Given the description of an element on the screen output the (x, y) to click on. 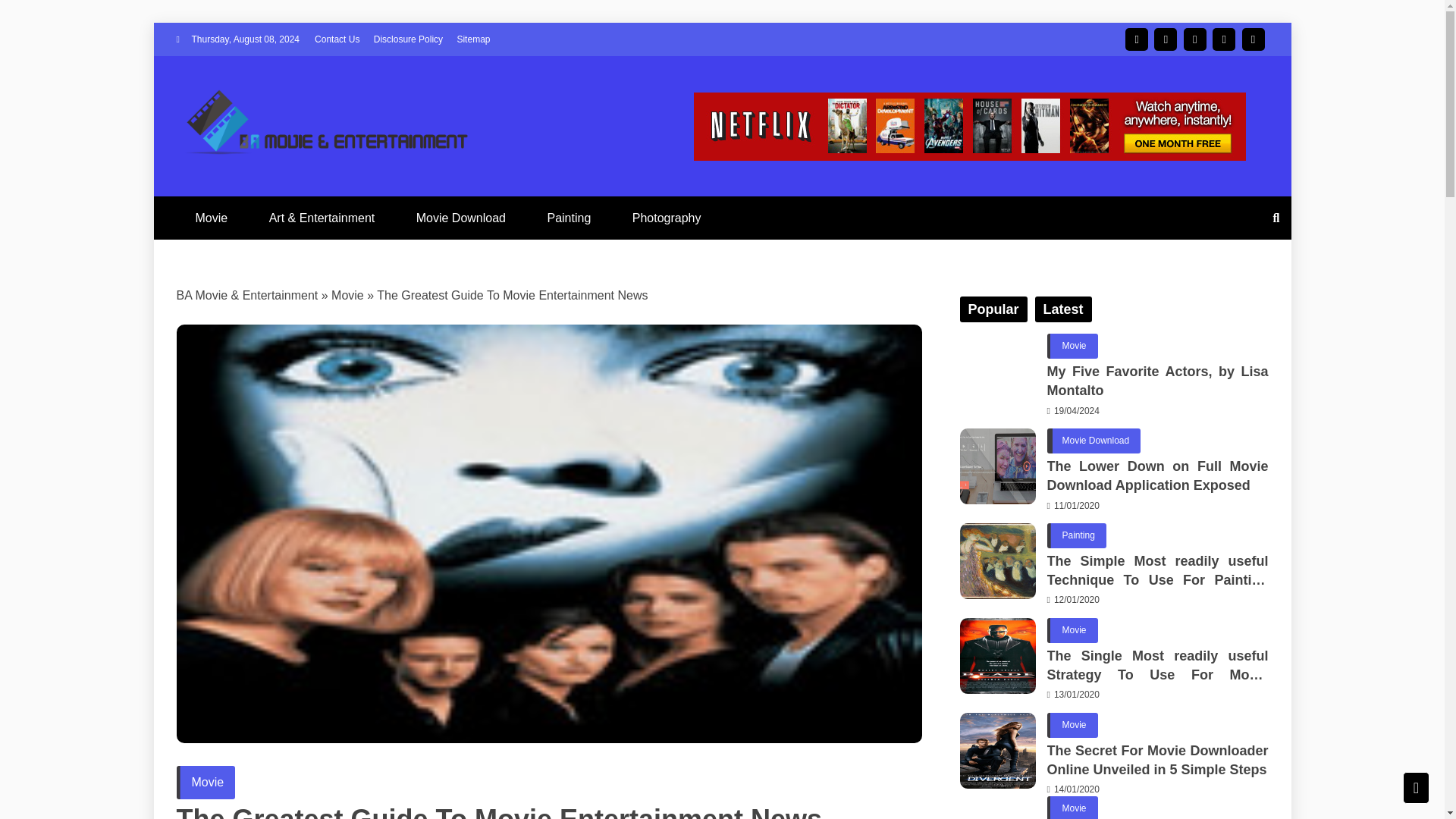
Sitemap (473, 39)
Movie (347, 295)
Movie Download (460, 217)
TikTok (1223, 38)
Instagram (1165, 38)
Contact Us (336, 39)
Movie (205, 781)
Pinterest (1253, 38)
Disclosure Policy (408, 39)
